Given the description of an element on the screen output the (x, y) to click on. 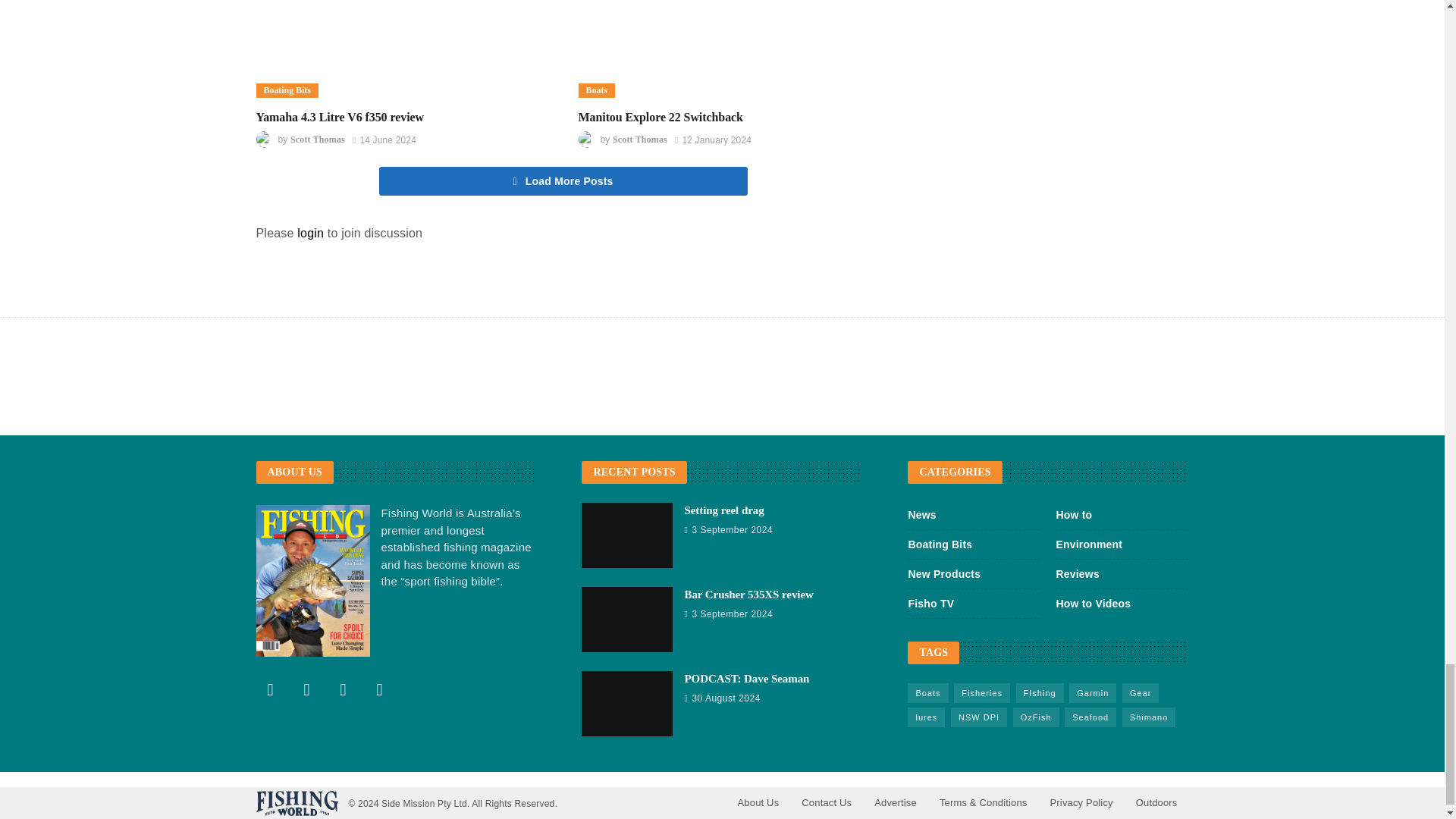
Bar Crusher 535XS review (626, 619)
Manitou Explore 22 Switchback (723, 48)
Manitou Explore 22 Switchback (660, 116)
Load More Posts (563, 181)
Yamaha 4.3 Litre V6 f350 review (402, 48)
Setting reel drag (626, 535)
Yamaha 4.3 Litre V6 f350 review (340, 116)
Setting reel drag (723, 510)
